Given the description of an element on the screen output the (x, y) to click on. 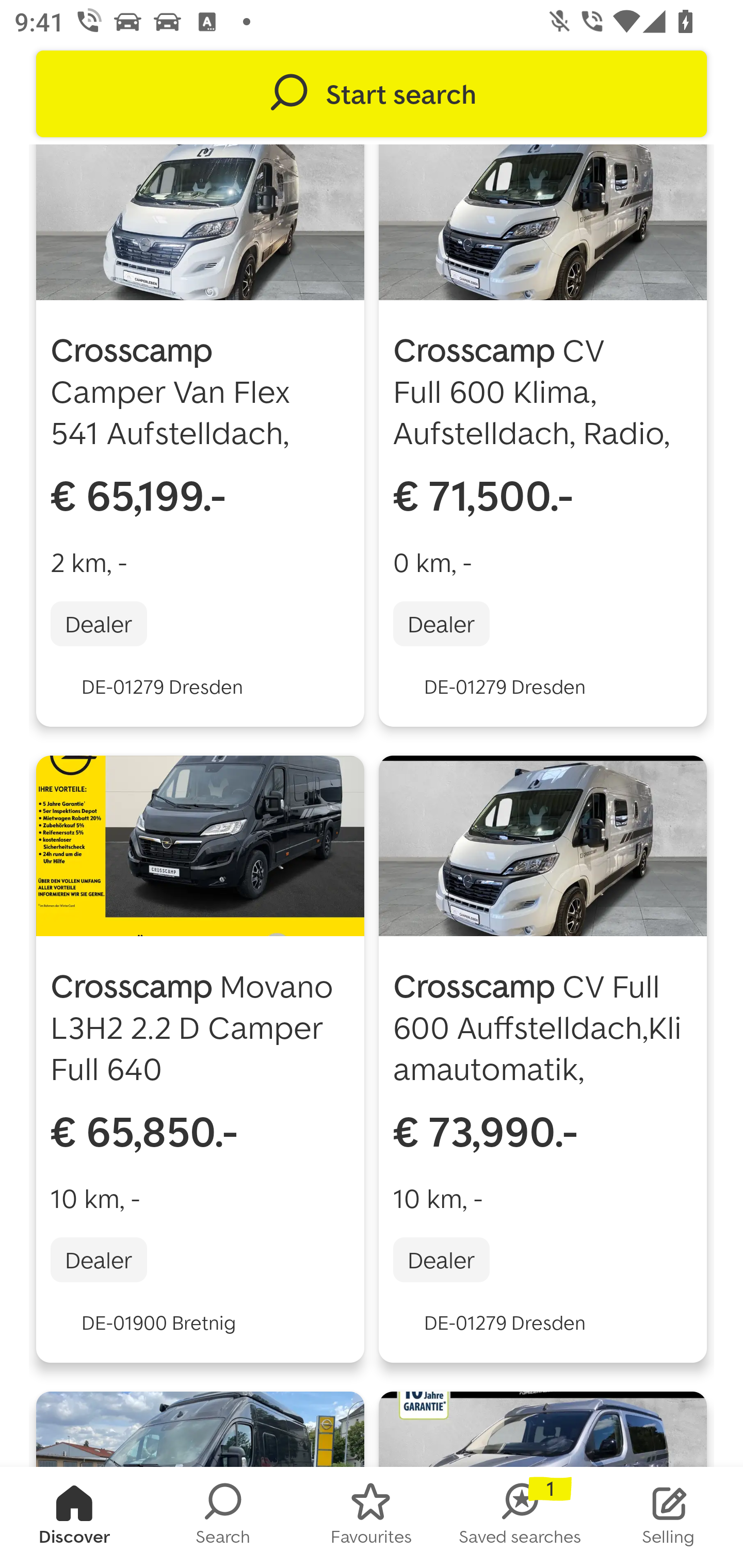
Start search (371, 93)
HOMESCREEN Discover (74, 1517)
SEARCH Search (222, 1517)
FAVORITES Favourites (371, 1517)
SAVED_SEARCHES Saved searches 1 (519, 1517)
STOCK_LIST Selling (668, 1517)
